Given the description of an element on the screen output the (x, y) to click on. 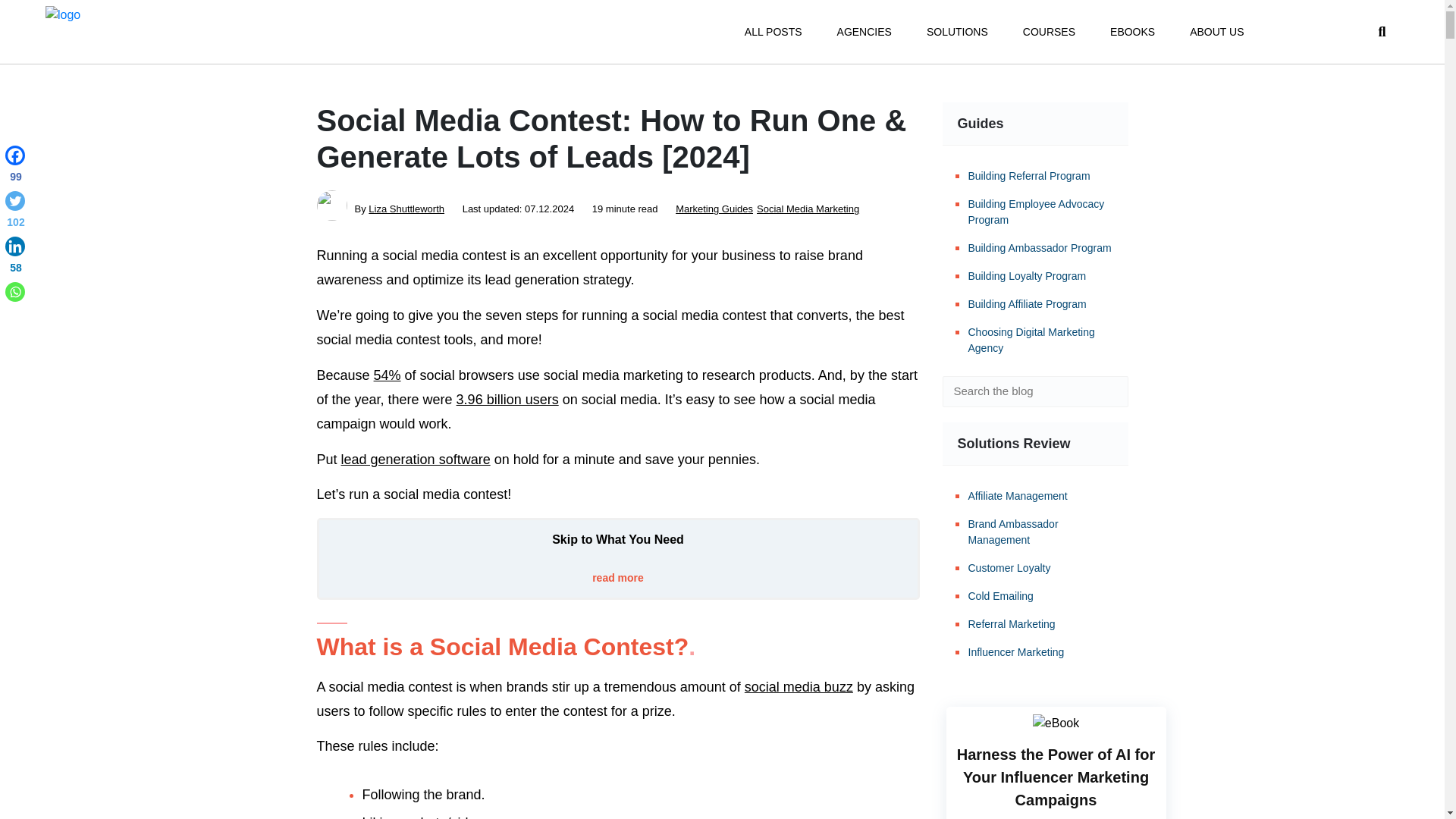
ALL POSTS (772, 31)
Whatsapp (14, 291)
Search (1105, 391)
Twitter (14, 211)
SOLUTIONS (957, 31)
Search (1105, 391)
Linkedin (14, 257)
AGENCIES (864, 31)
Facebook (14, 166)
